Given the description of an element on the screen output the (x, y) to click on. 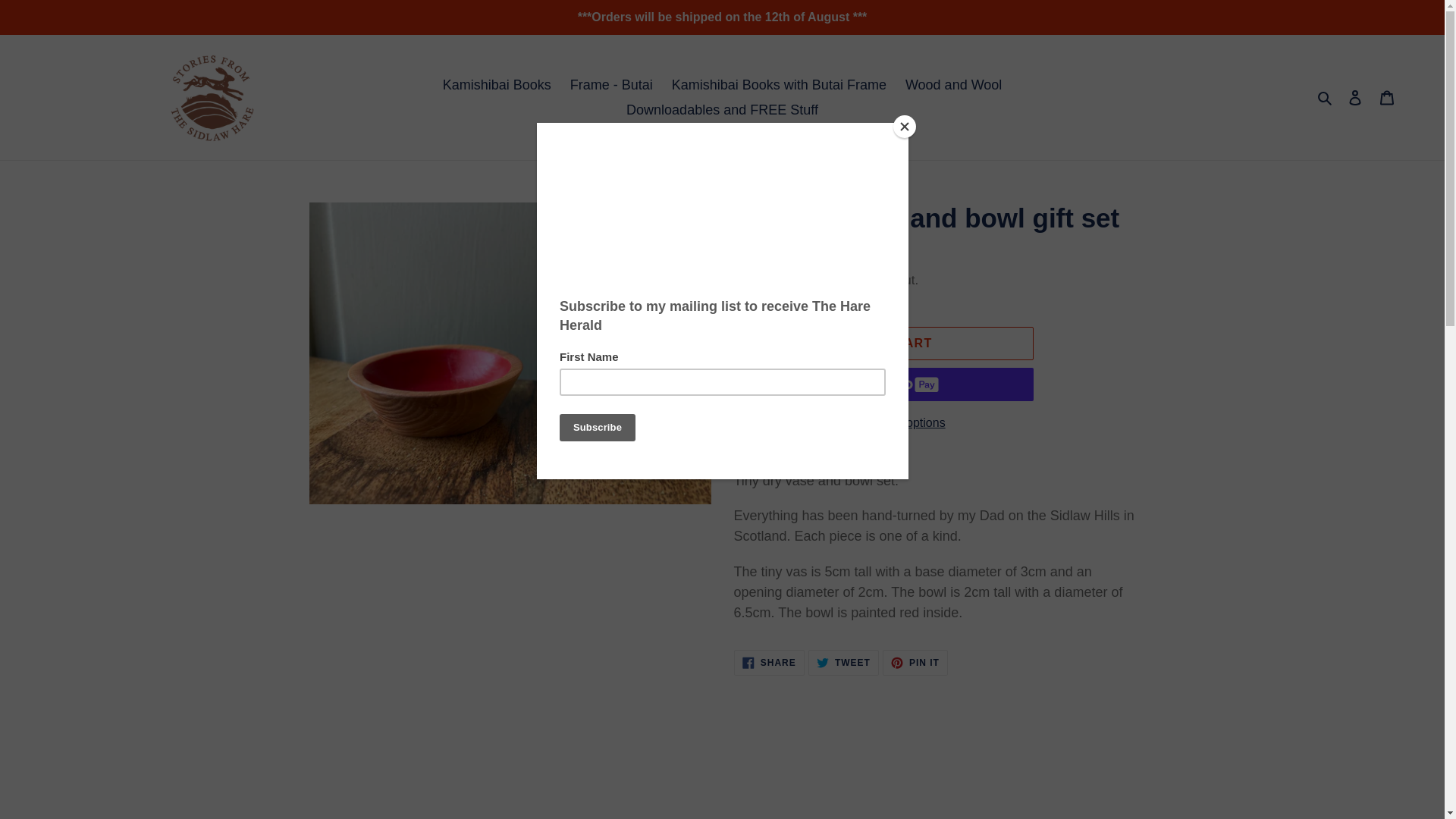
Shipping (843, 662)
ADD TO CART (758, 280)
Frame - Butai (884, 343)
Search (914, 662)
Kamishibai Books (611, 84)
Kamishibai Books with Butai Frame (1326, 97)
Cart (497, 84)
Downloadables and FREE Stuff (778, 84)
Log in (1387, 96)
More payment options (769, 662)
Wood and Wool (721, 109)
